Given the description of an element on the screen output the (x, y) to click on. 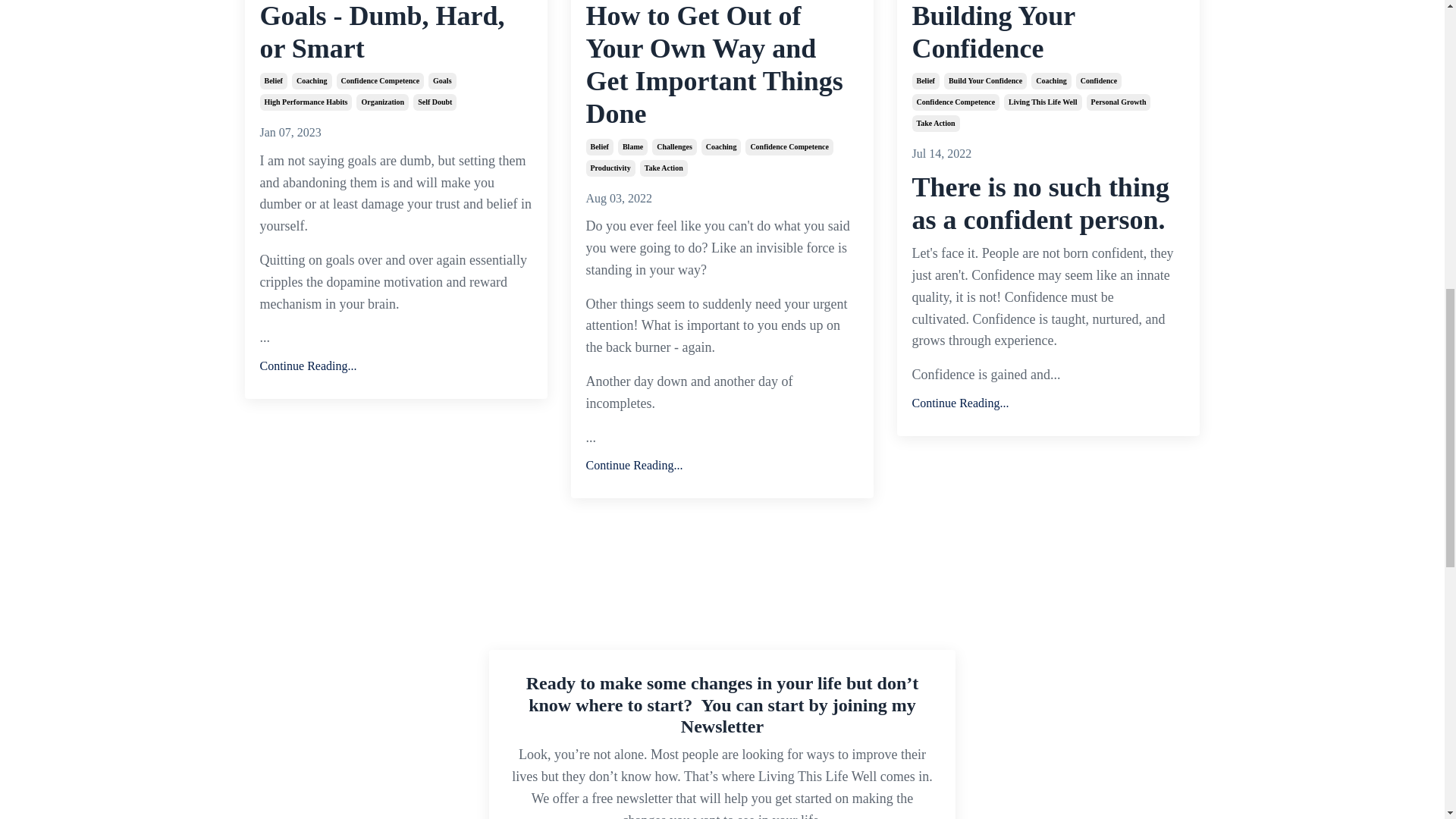
How to Get Out of Your Own Way and Get Important Things Done (722, 65)
Productivity (609, 167)
Blame (632, 146)
Building Your Confidence (1048, 32)
Coaching (721, 146)
Continue Reading... (1048, 403)
Confidence Competence (380, 80)
Confidence Competence (788, 146)
Challenges (674, 146)
High Performance Habits (305, 102)
